Given the description of an element on the screen output the (x, y) to click on. 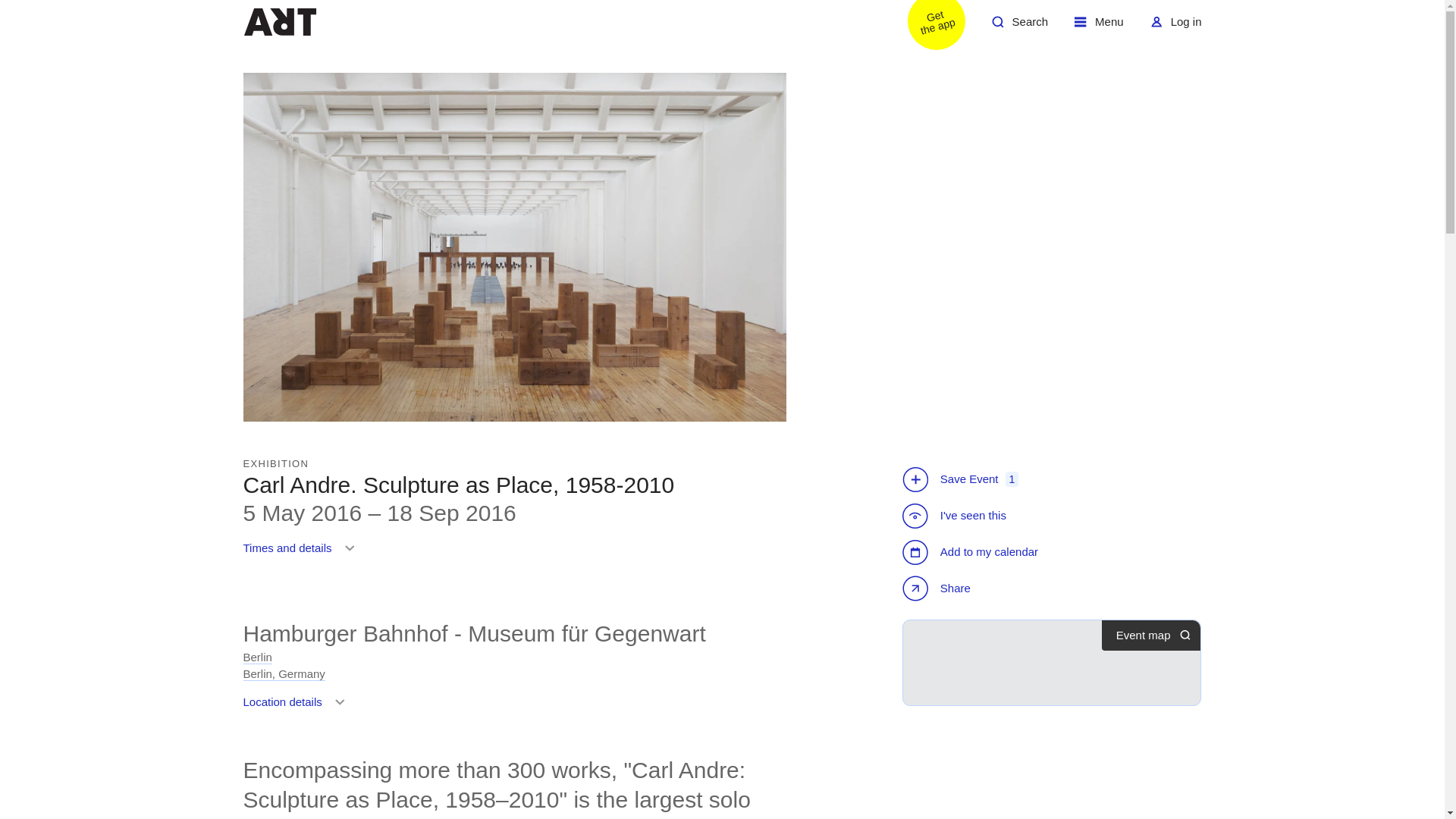
Share (1099, 26)
Add to my calendar (283, 665)
Welcome to ArtRabbit (938, 589)
